Given the description of an element on the screen output the (x, y) to click on. 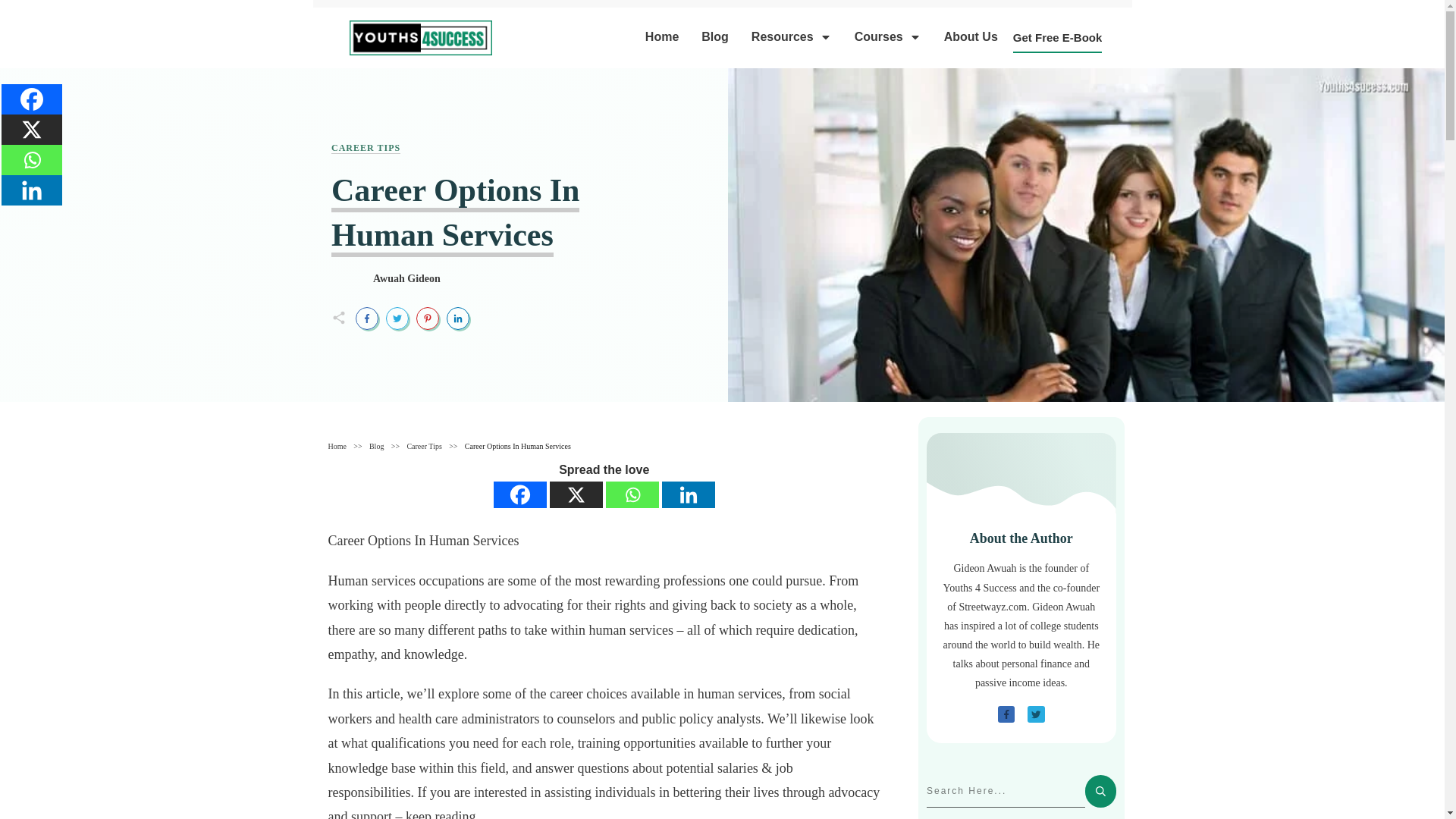
Blog (376, 446)
Career Options In Human Services (455, 214)
Linkedin (688, 494)
Resources (791, 36)
Blog (715, 36)
Home (661, 36)
CAREER TIPS (365, 147)
Home (336, 446)
Career Tips (365, 147)
Get Free E-Book (1057, 37)
